Given the description of an element on the screen output the (x, y) to click on. 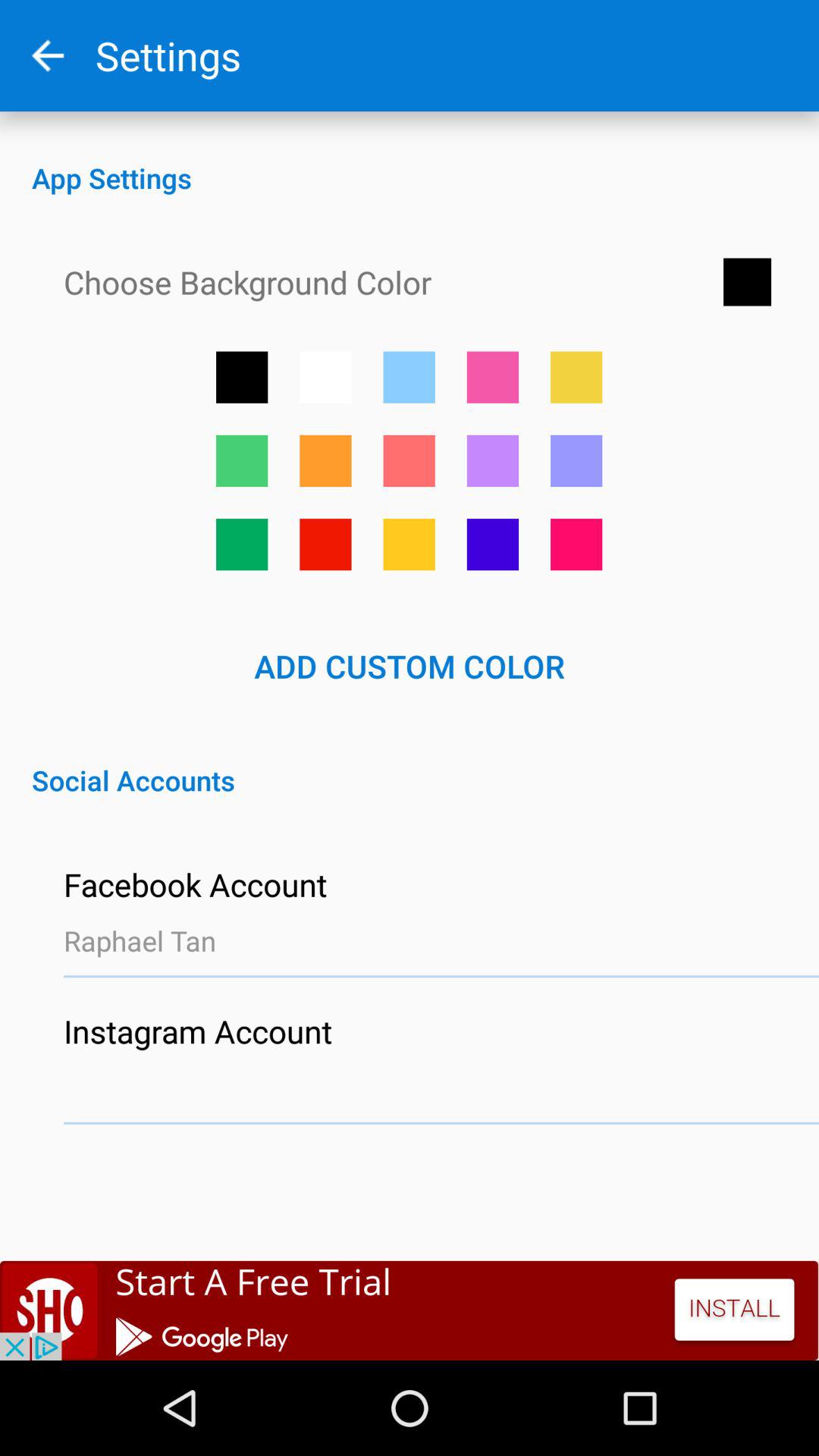
black (241, 377)
